Given the description of an element on the screen output the (x, y) to click on. 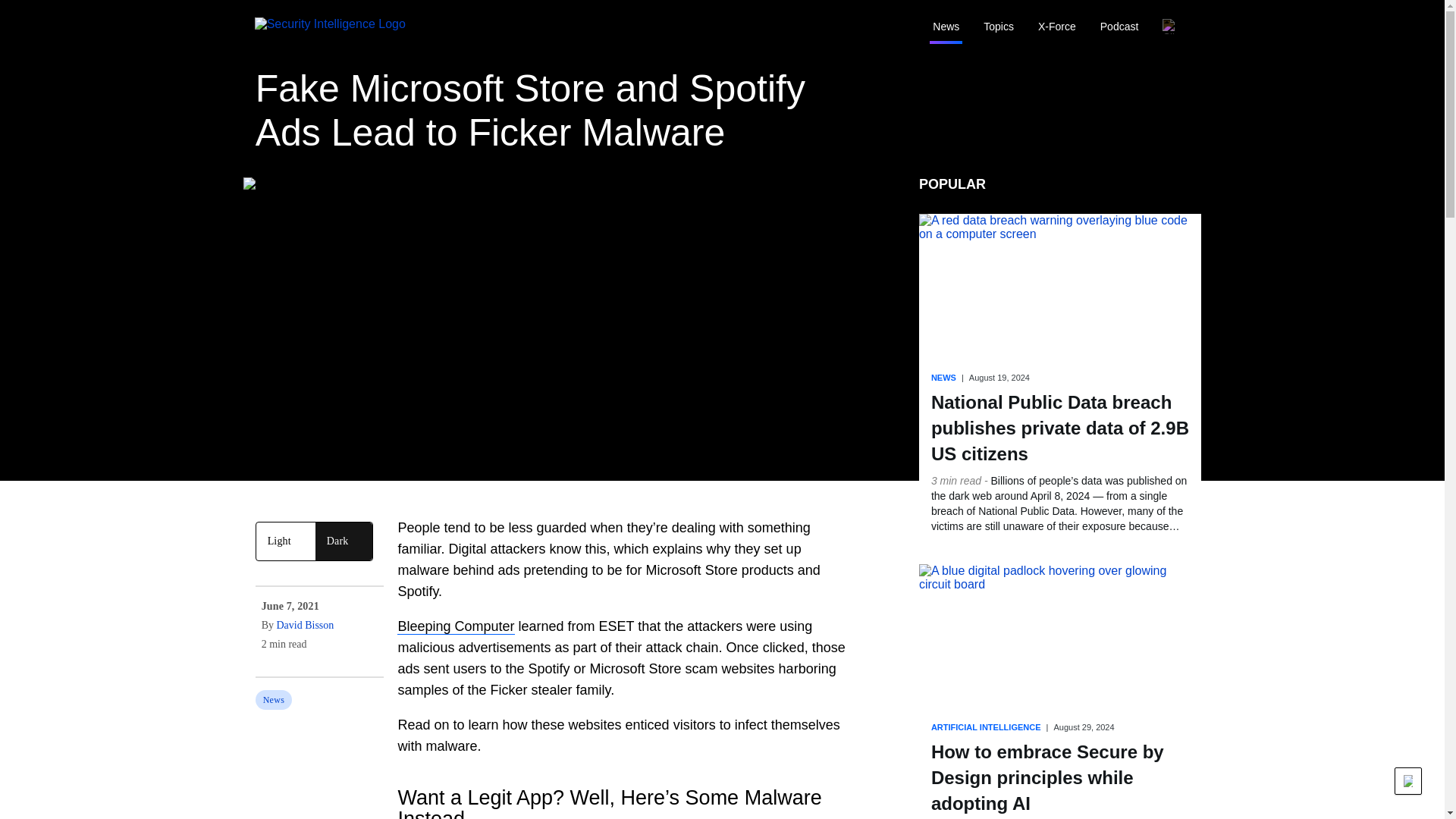
Podcast (1119, 26)
Topics (998, 26)
submit (1112, 27)
Security Intelligence (341, 27)
reset (1177, 27)
Dark (343, 541)
X-Force (1056, 26)
Light (285, 541)
News (945, 26)
